Given the description of an element on the screen output the (x, y) to click on. 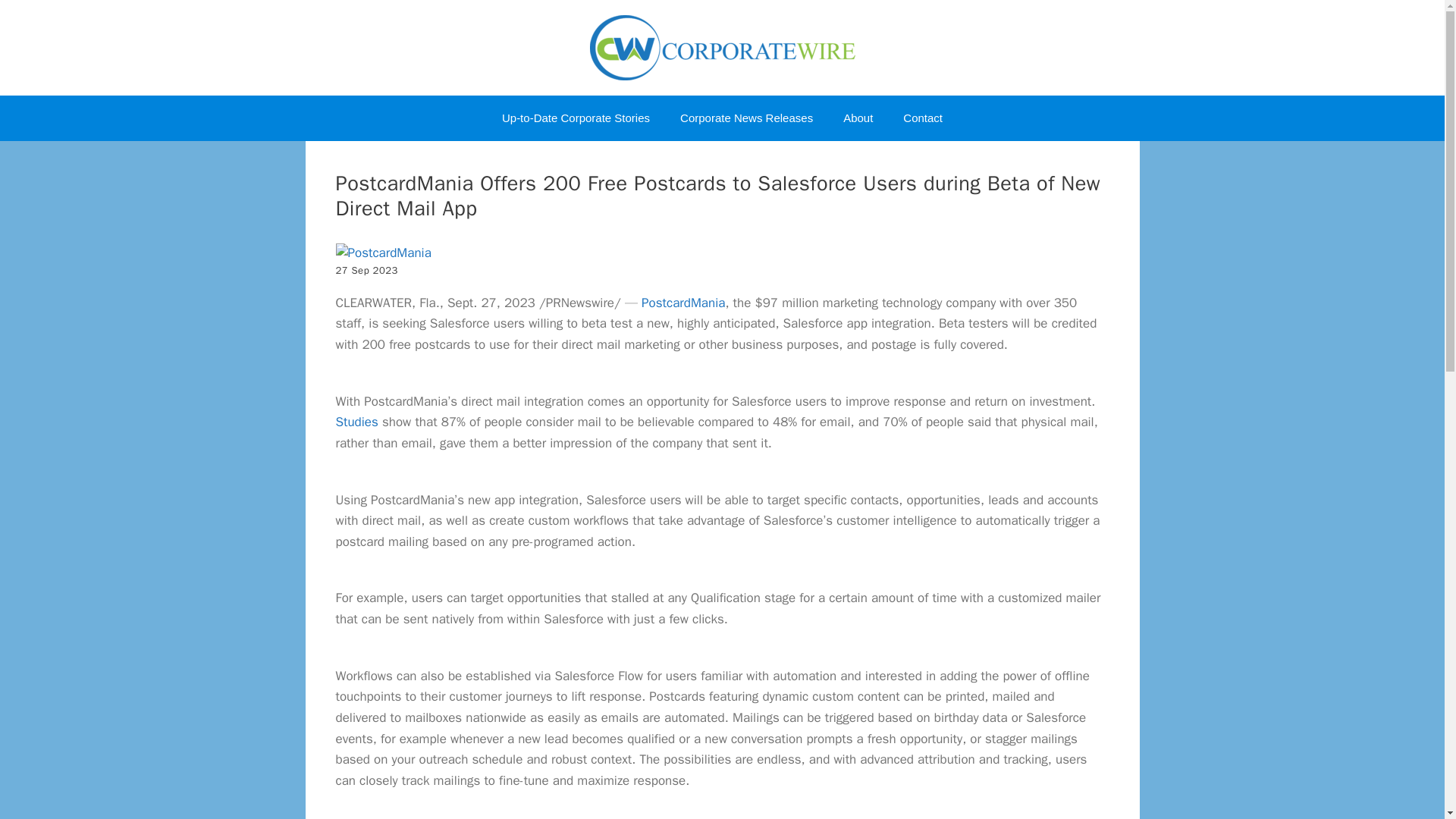
Up-to-Date Corporate Stories (575, 117)
PostcardMania (382, 252)
PostcardMania (683, 302)
Studies (355, 421)
Corporate News Releases (746, 117)
Contact (923, 117)
About (858, 117)
